Given the description of an element on the screen output the (x, y) to click on. 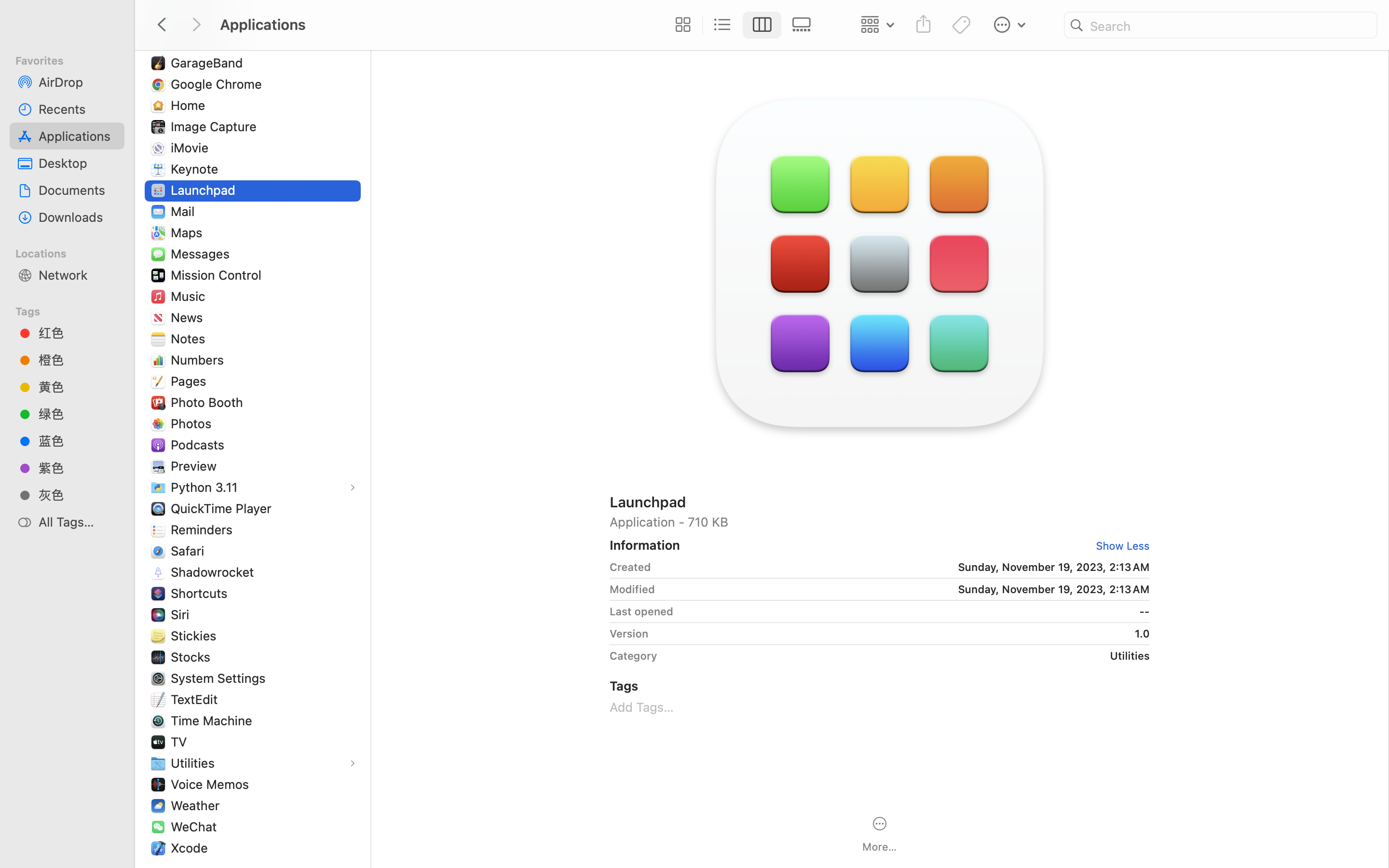
Shortcuts Element type: AXTextField (200, 592)
Mission Control Element type: AXTextField (218, 274)
TextEdit Element type: AXTextField (195, 698)
Keynote Element type: AXTextField (196, 168)
Xcode Element type: AXTextField (191, 847)
